Given the description of an element on the screen output the (x, y) to click on. 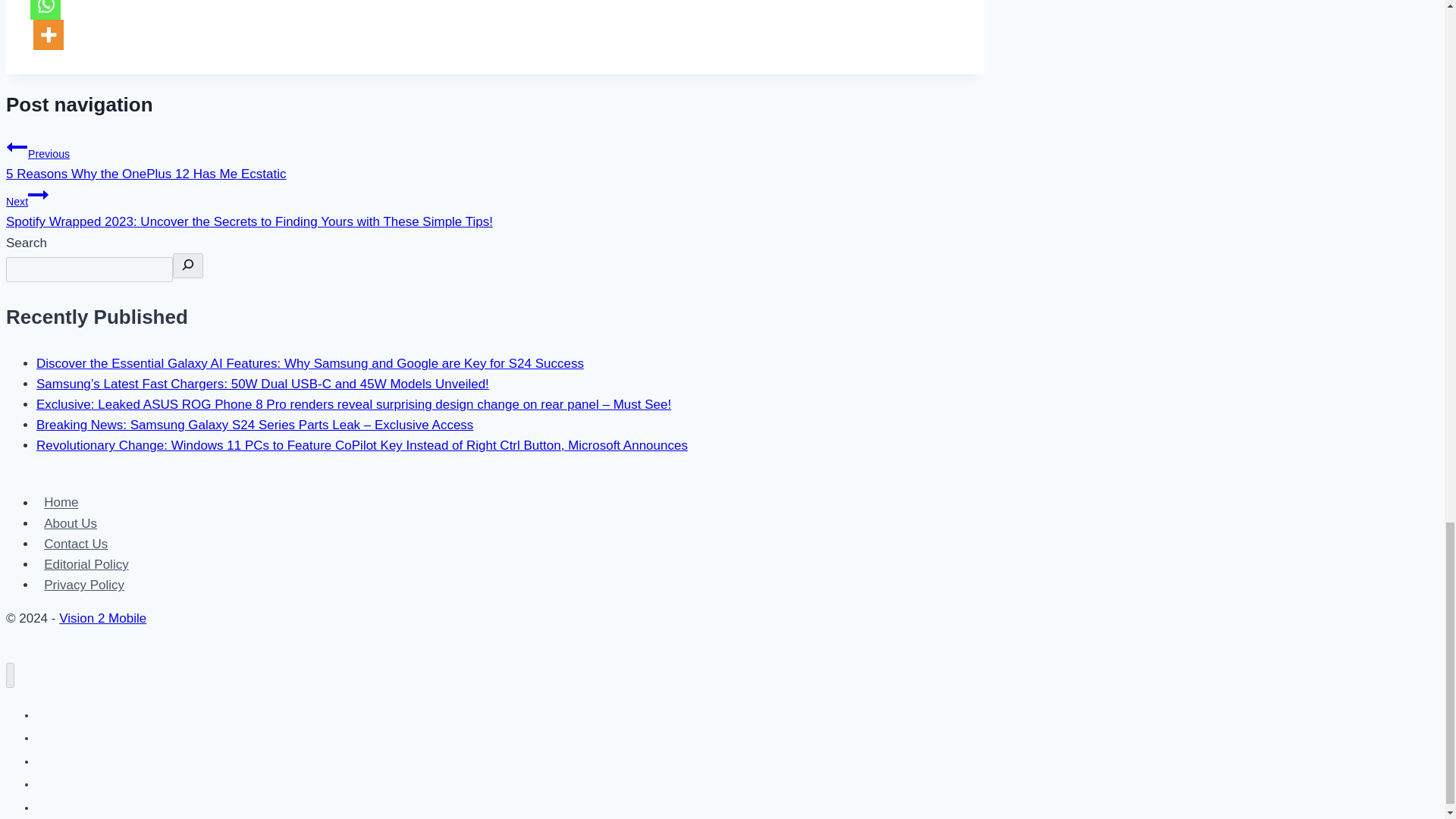
About Us (70, 523)
Contact Us (75, 544)
Home (60, 502)
More (48, 34)
Whatsapp (45, 9)
Editorial Policy (86, 564)
Vision 2 Mobile (103, 617)
Privacy Policy (84, 585)
